Given the description of an element on the screen output the (x, y) to click on. 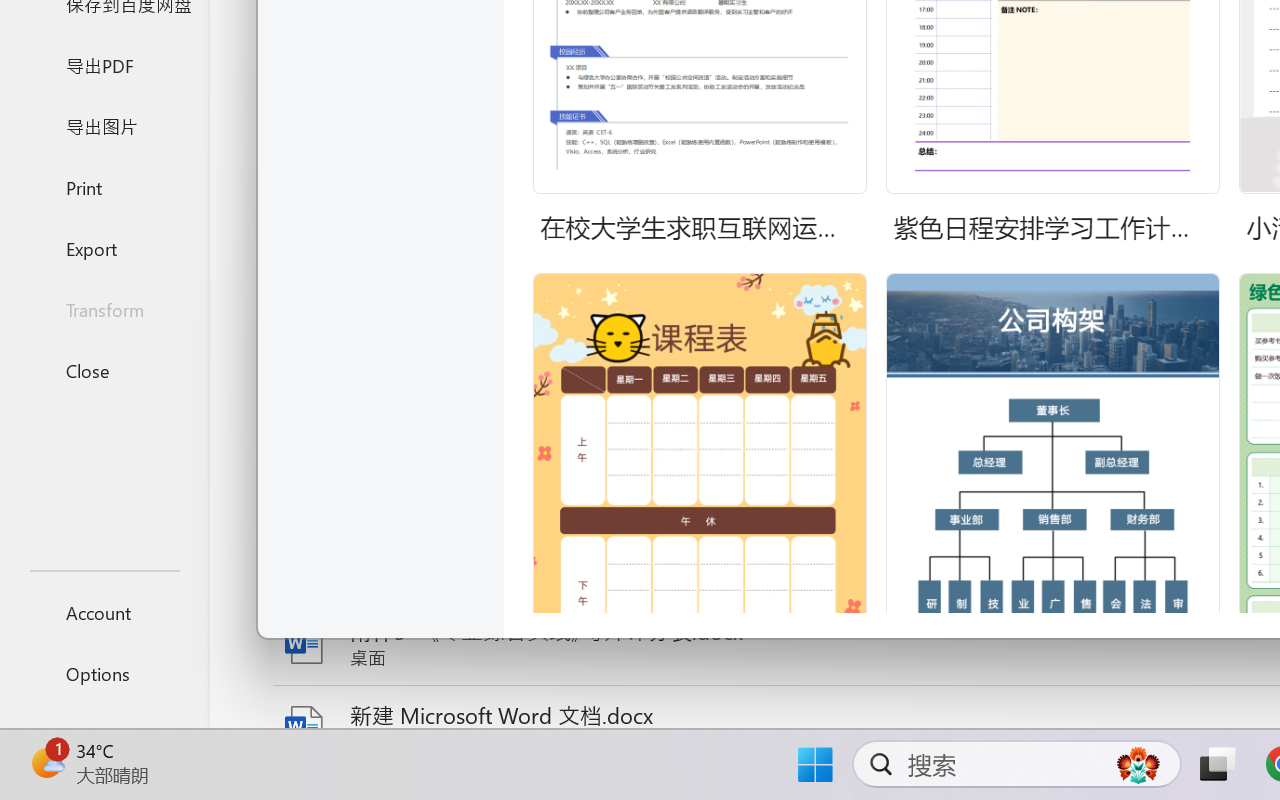
Account (104, 612)
Export (104, 248)
Print (104, 186)
